Given the description of an element on the screen output the (x, y) to click on. 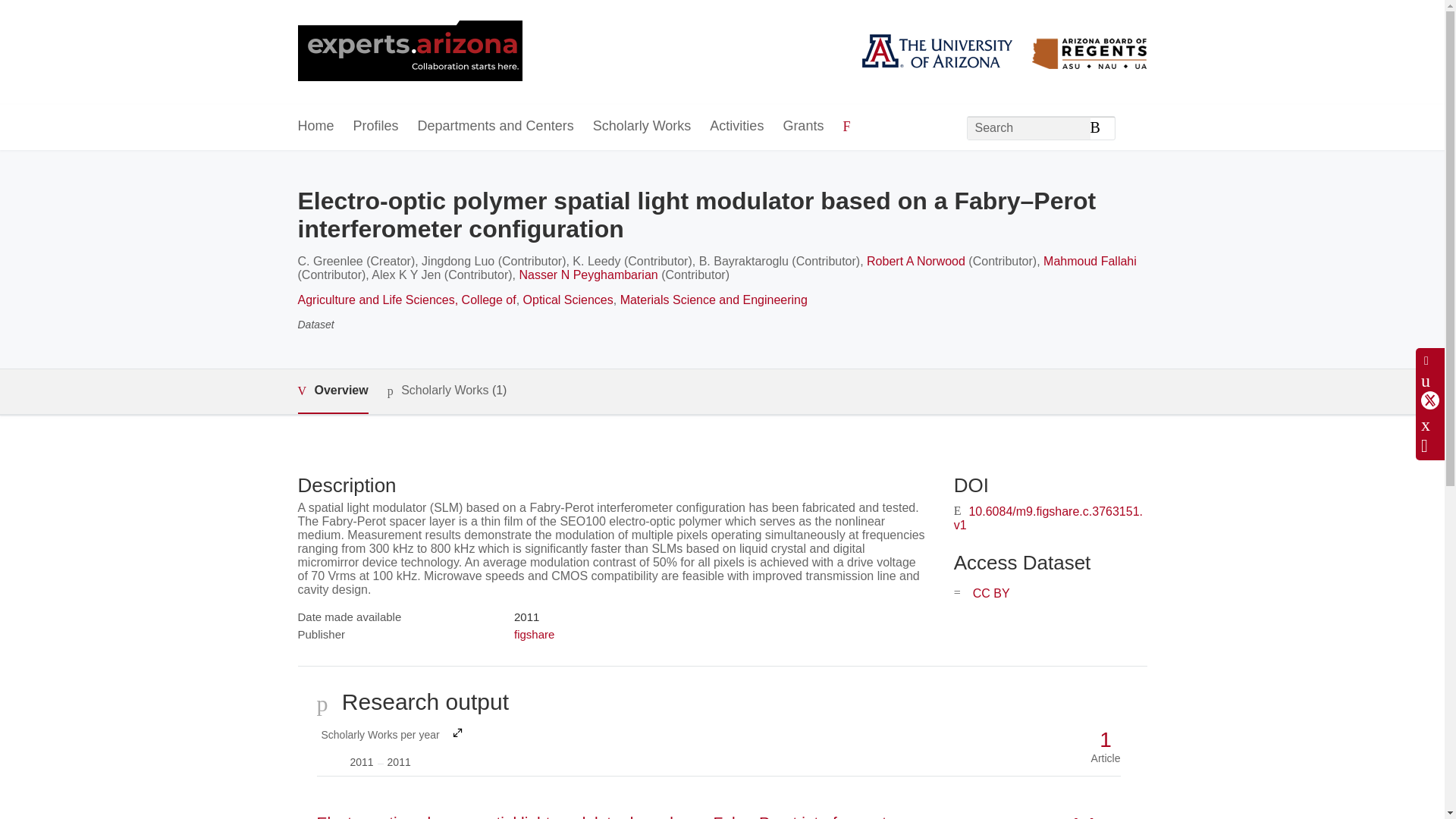
1 (1105, 740)
Nasser N Peyghambarian (390, 746)
Grants (588, 274)
figshare (803, 126)
Departments and Centers (533, 634)
Overview (495, 126)
Skip to main navigation (332, 391)
